Given the description of an element on the screen output the (x, y) to click on. 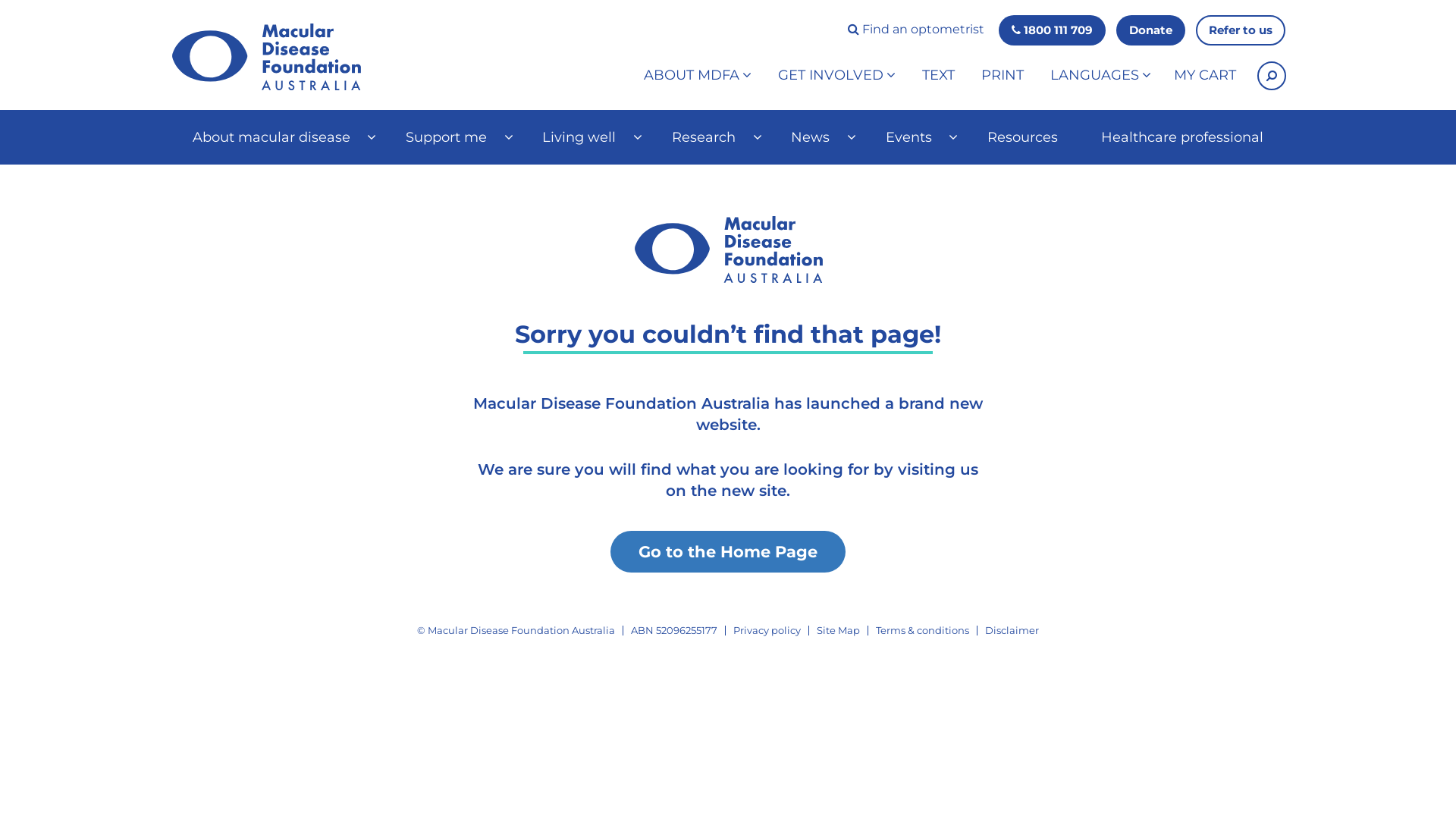
Disclaimer Element type: text (1011, 630)
Donate Element type: text (1150, 30)
PRINT Element type: text (1002, 75)
News Element type: text (815, 136)
Support me Element type: text (451, 136)
Events Element type: text (914, 136)
ABOUT MDFA Element type: text (697, 75)
Research Element type: text (708, 136)
About macular disease Element type: text (276, 136)
LANGUAGES Element type: text (1100, 75)
GET INVOLVED Element type: text (836, 75)
Site Map Element type: text (837, 630)
Terms & conditions Element type: text (922, 630)
Resources Element type: text (1022, 136)
Living well Element type: text (584, 136)
TEXT Element type: text (938, 75)
Privacy policy Element type: text (766, 630)
Find an optometrist Element type: text (916, 29)
MY CART Element type: text (1204, 75)
Healthcare professional Element type: text (1182, 136)
1800 111 709 Element type: text (1051, 30)
Go to the Home Page Element type: text (727, 551)
Refer to us Element type: text (1240, 30)
